Given the description of an element on the screen output the (x, y) to click on. 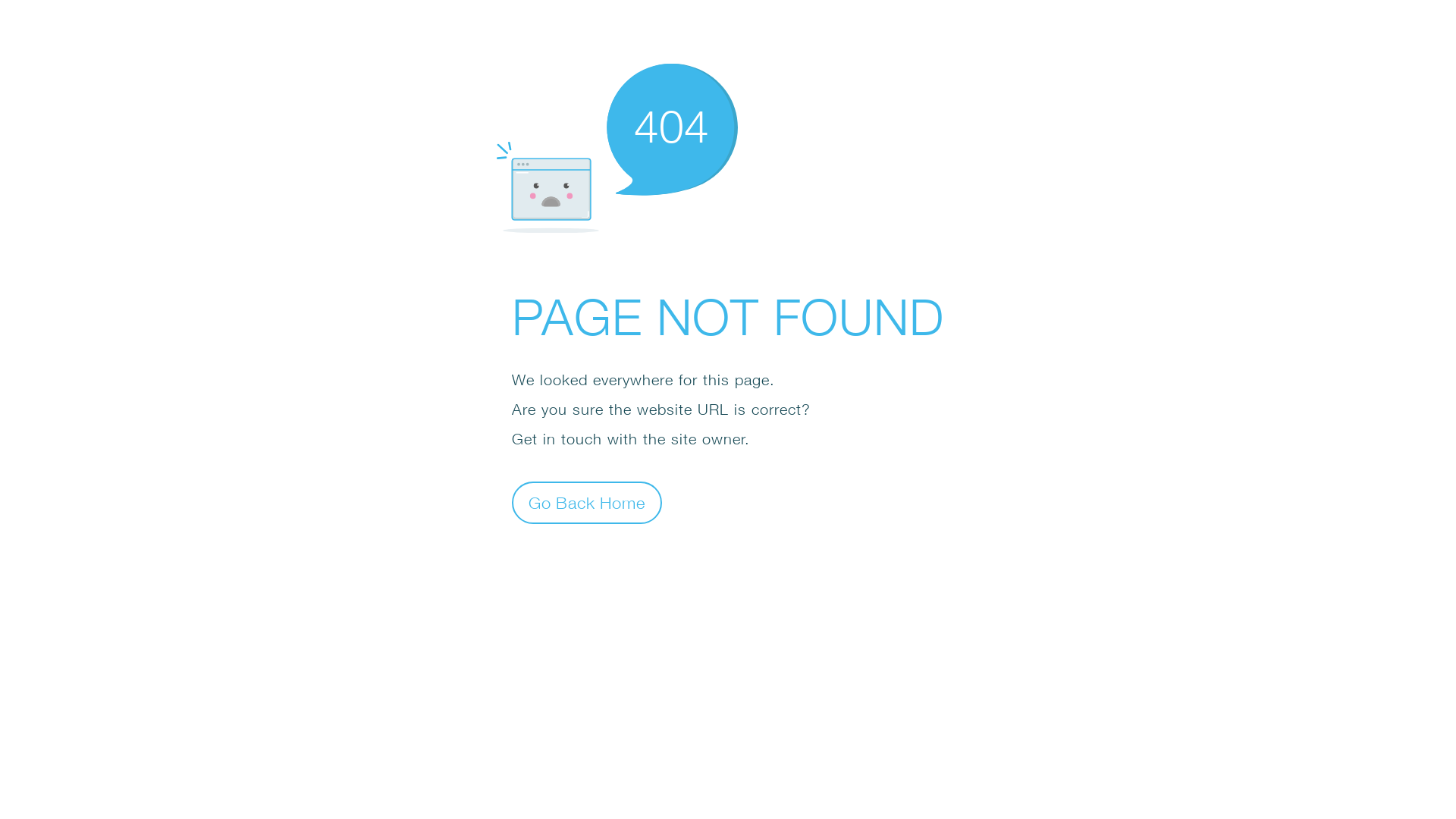
Go Back Home Element type: text (586, 502)
